Given the description of an element on the screen output the (x, y) to click on. 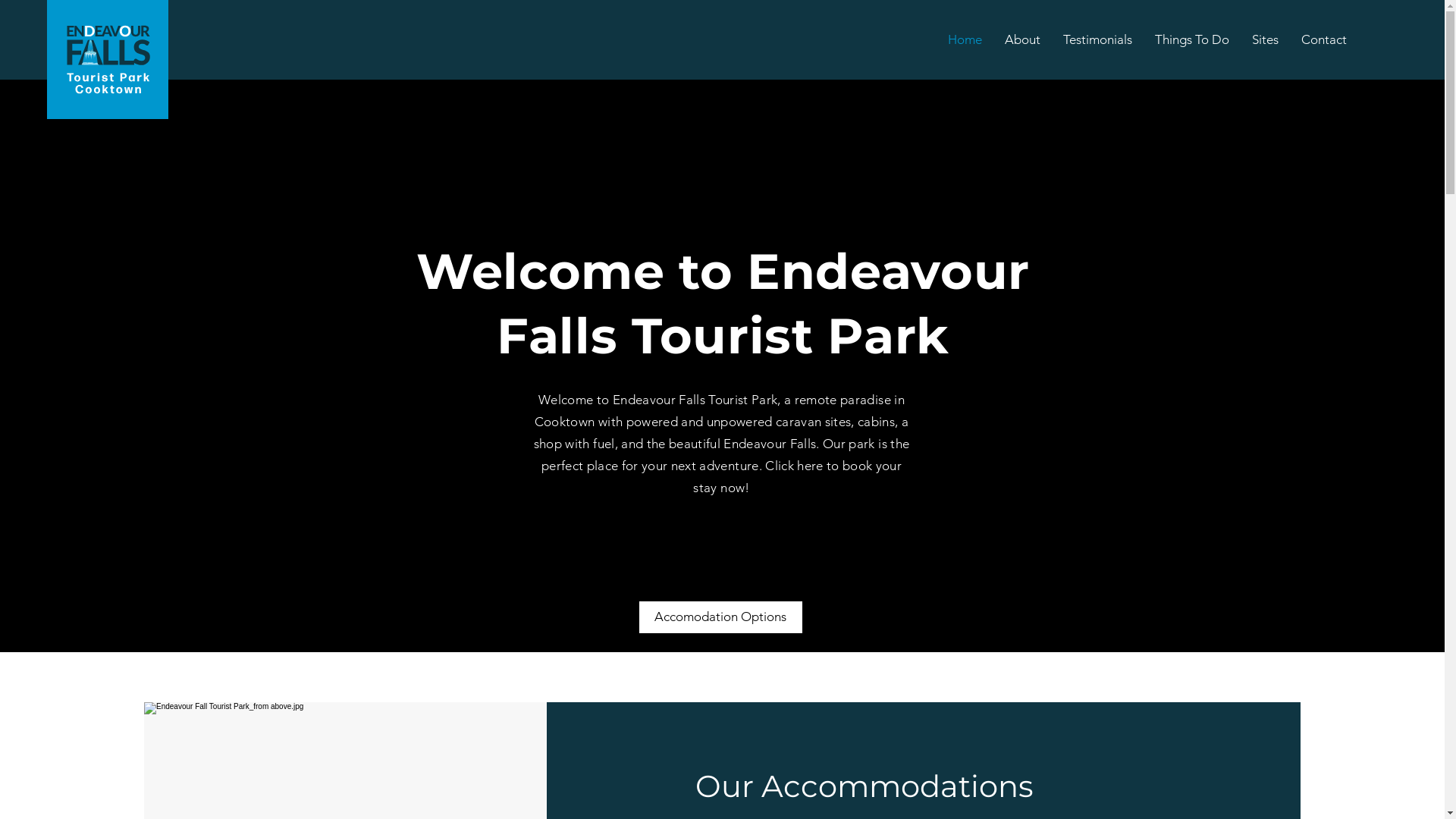
Accomodation Options Element type: text (719, 617)
Sites Element type: text (1264, 39)
Contact Element type: text (1323, 39)
Home Element type: text (964, 39)
Testimonials Element type: text (1097, 39)
About Element type: text (1022, 39)
Things To Do Element type: text (1191, 39)
